Given the description of an element on the screen output the (x, y) to click on. 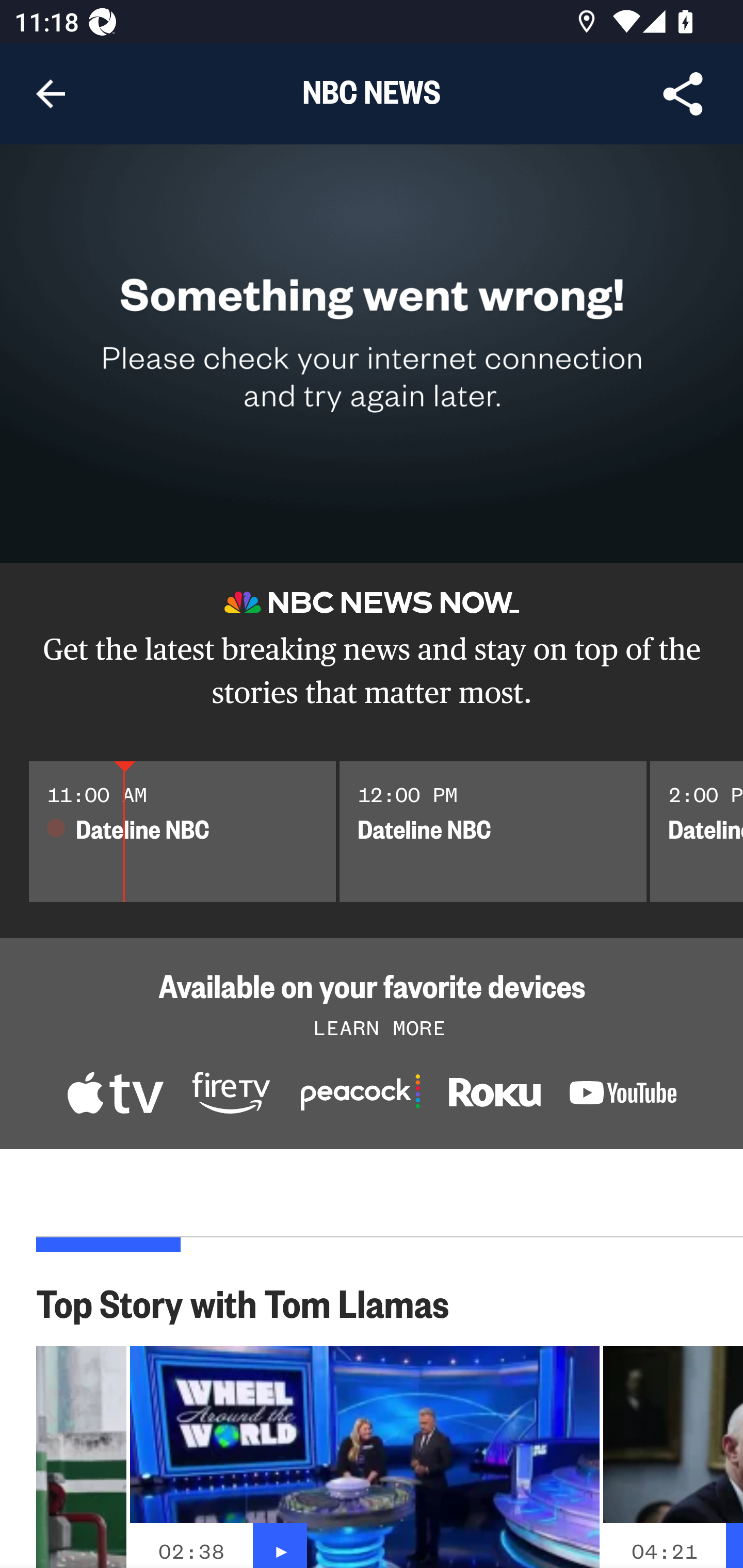
Navigate up (50, 93)
Share Article, button (683, 94)
1260802722430-NBC-News-Now (115, 1095)
B0055DL1G4 (231, 1095)
nbc-news (494, 1096)
nbcnews (622, 1095)
Top Story with Tom Llamas (253, 1301)
02:38  02:38 02:38 02:38  (364, 1456)
02:38 (190, 1551)
04:21 (664, 1551)
